Given the description of an element on the screen output the (x, y) to click on. 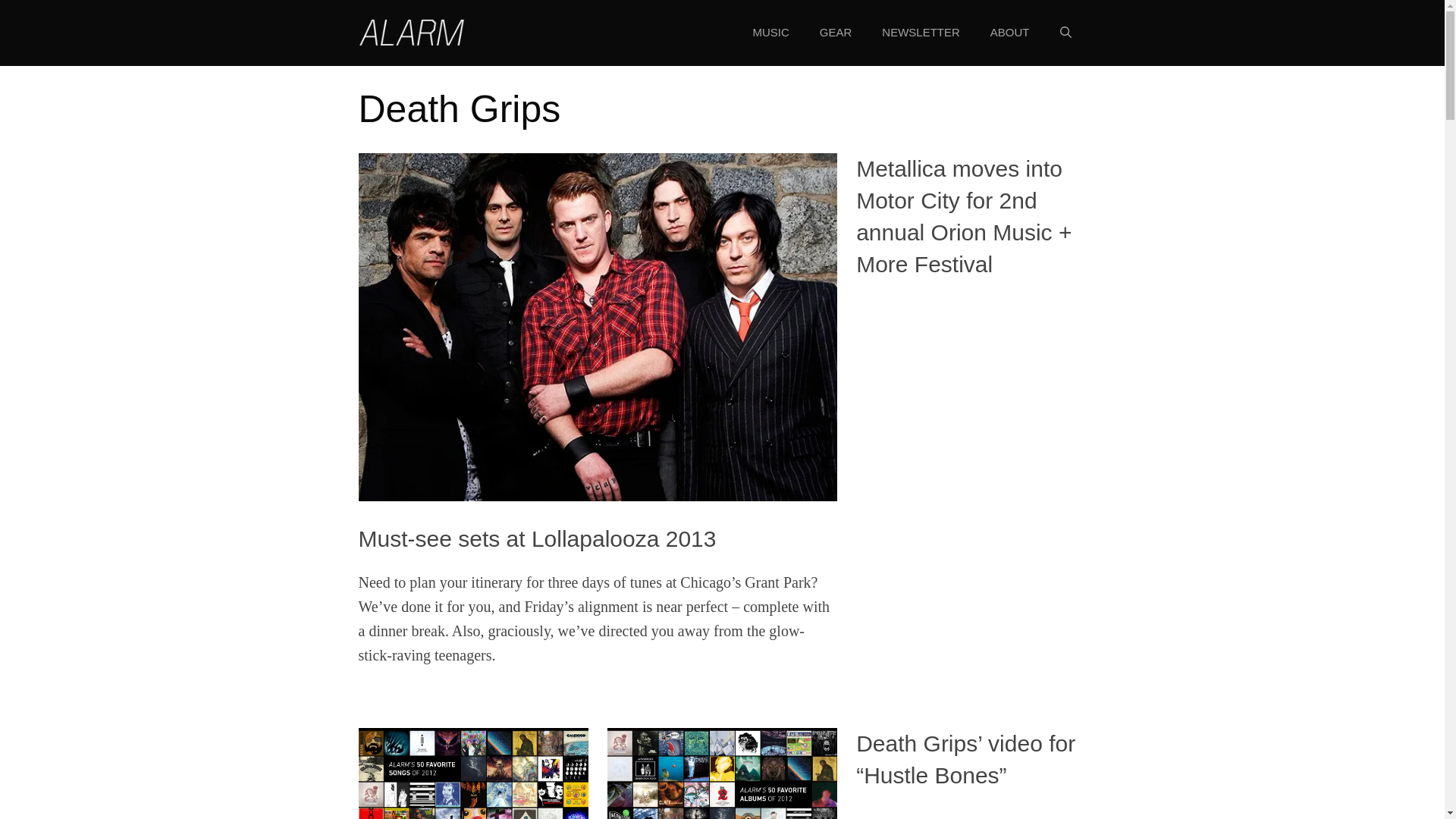
MUSIC (769, 32)
ALARM (411, 30)
ALARM (411, 32)
GEAR (836, 32)
NEWSLETTER (920, 32)
ABOUT (1010, 32)
Must-see sets at Lollapalooza 2013 (537, 538)
